Given the description of an element on the screen output the (x, y) to click on. 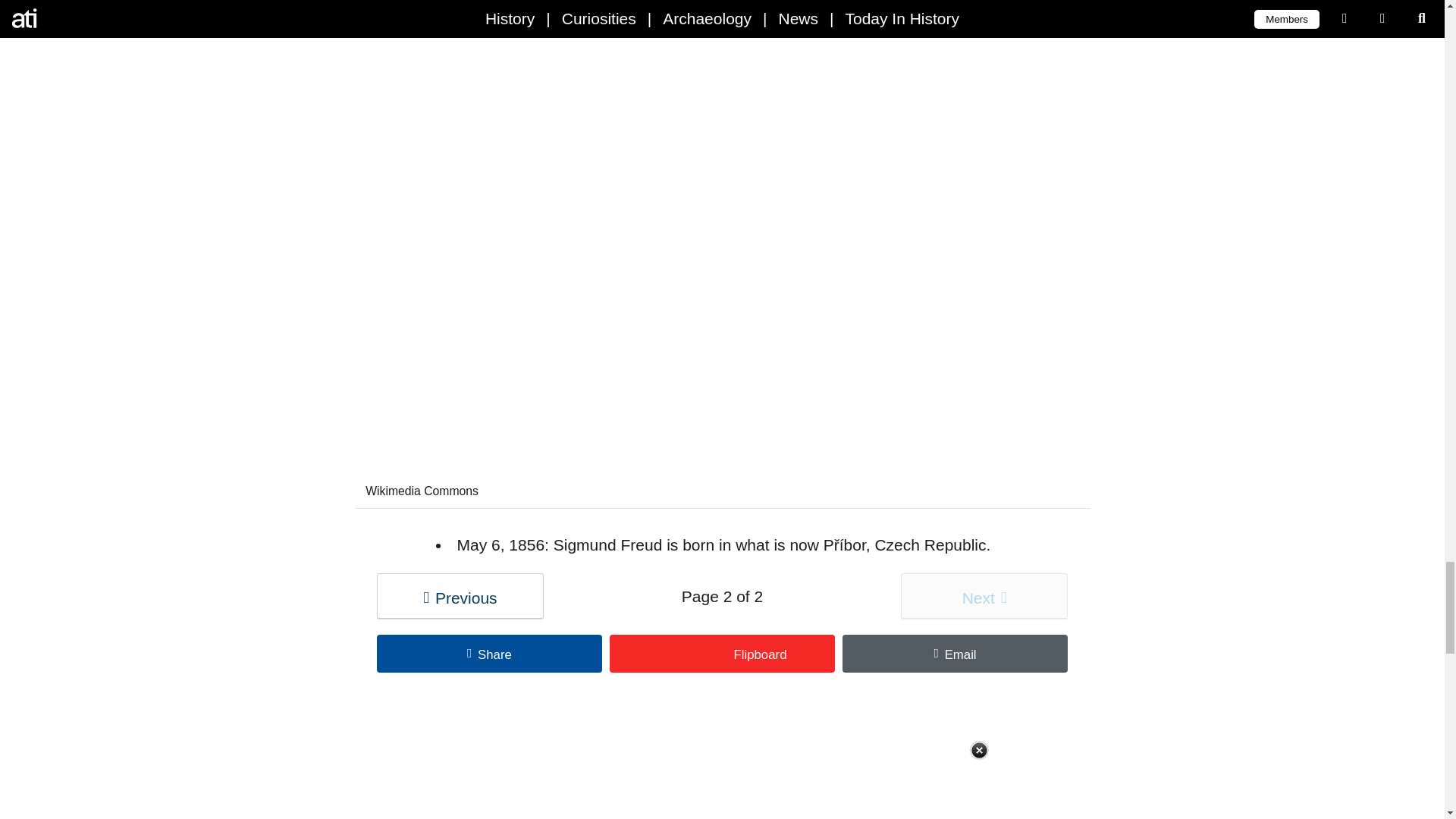
3rd party ad content (721, 768)
Previous (460, 596)
Share (489, 653)
Next (984, 596)
Flipboard (722, 653)
Email (955, 653)
